Given the description of an element on the screen output the (x, y) to click on. 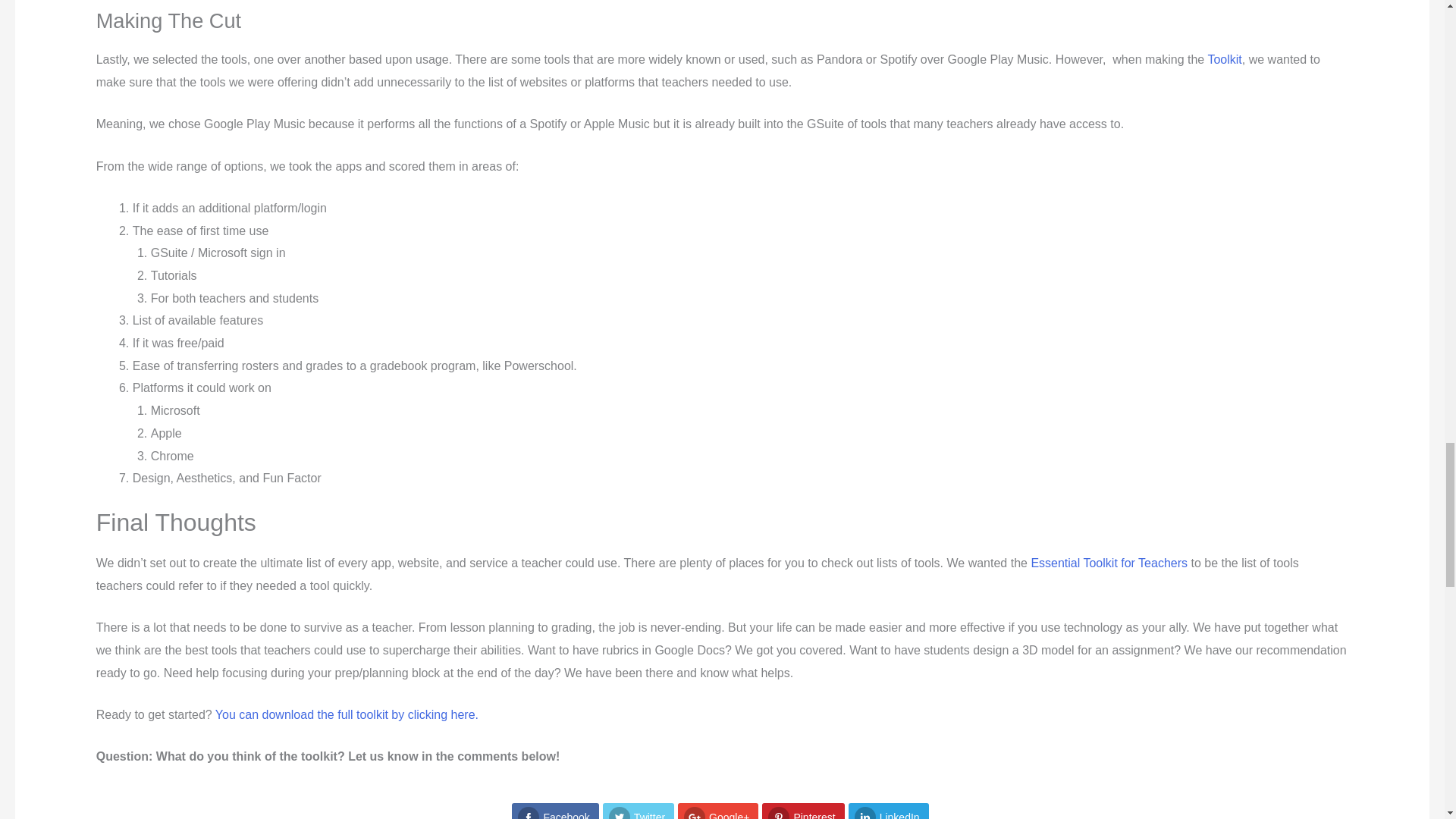
You can download the full toolkit by clicking here. (347, 714)
Pinterest (802, 811)
Twitter (638, 811)
Toolkit (1224, 59)
LinkedIn (888, 811)
Facebook (555, 811)
Essential Toolkit for Teachers (1109, 562)
